Given the description of an element on the screen output the (x, y) to click on. 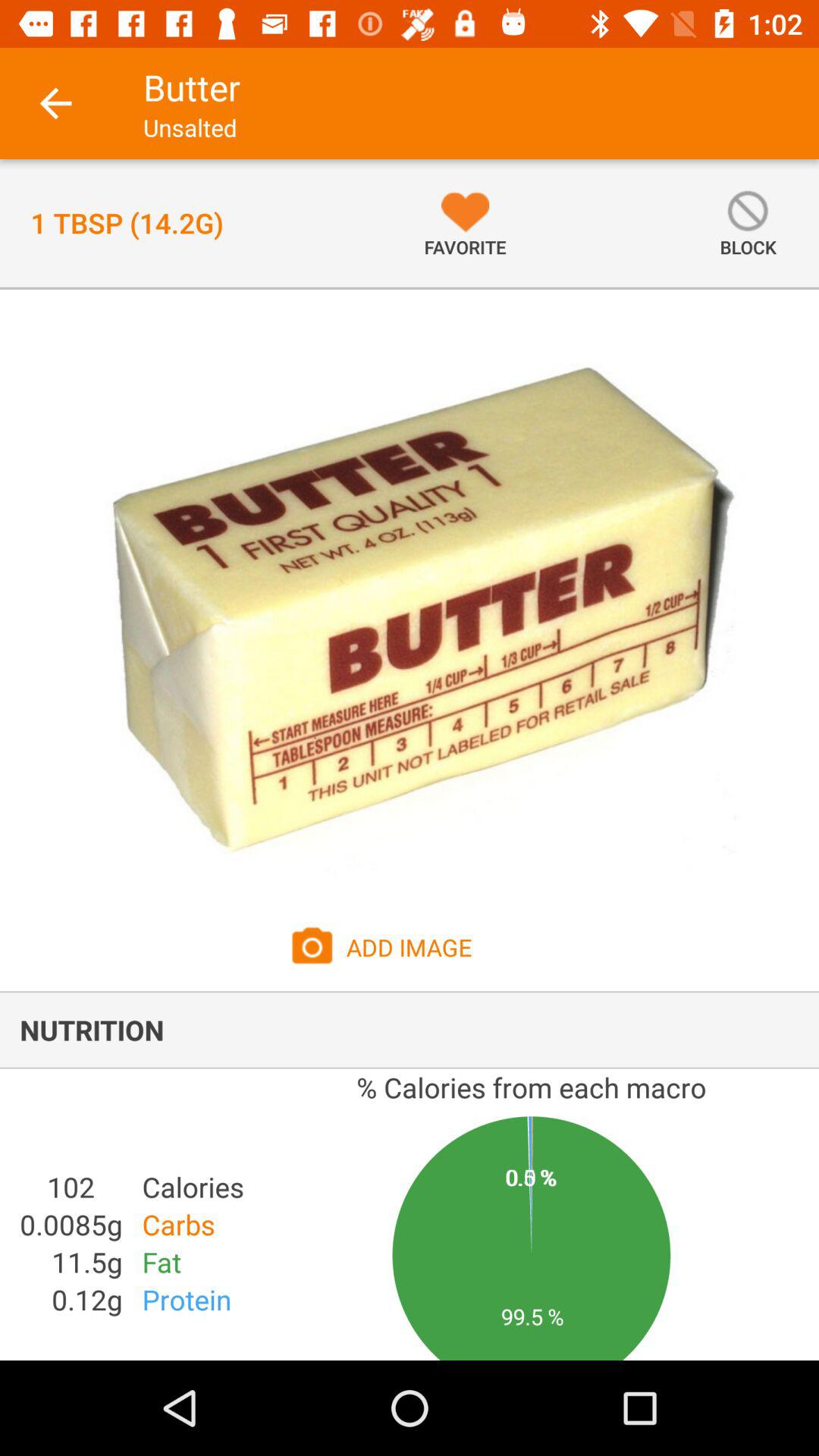
turn on the item at the top right corner (748, 223)
